Given the description of an element on the screen output the (x, y) to click on. 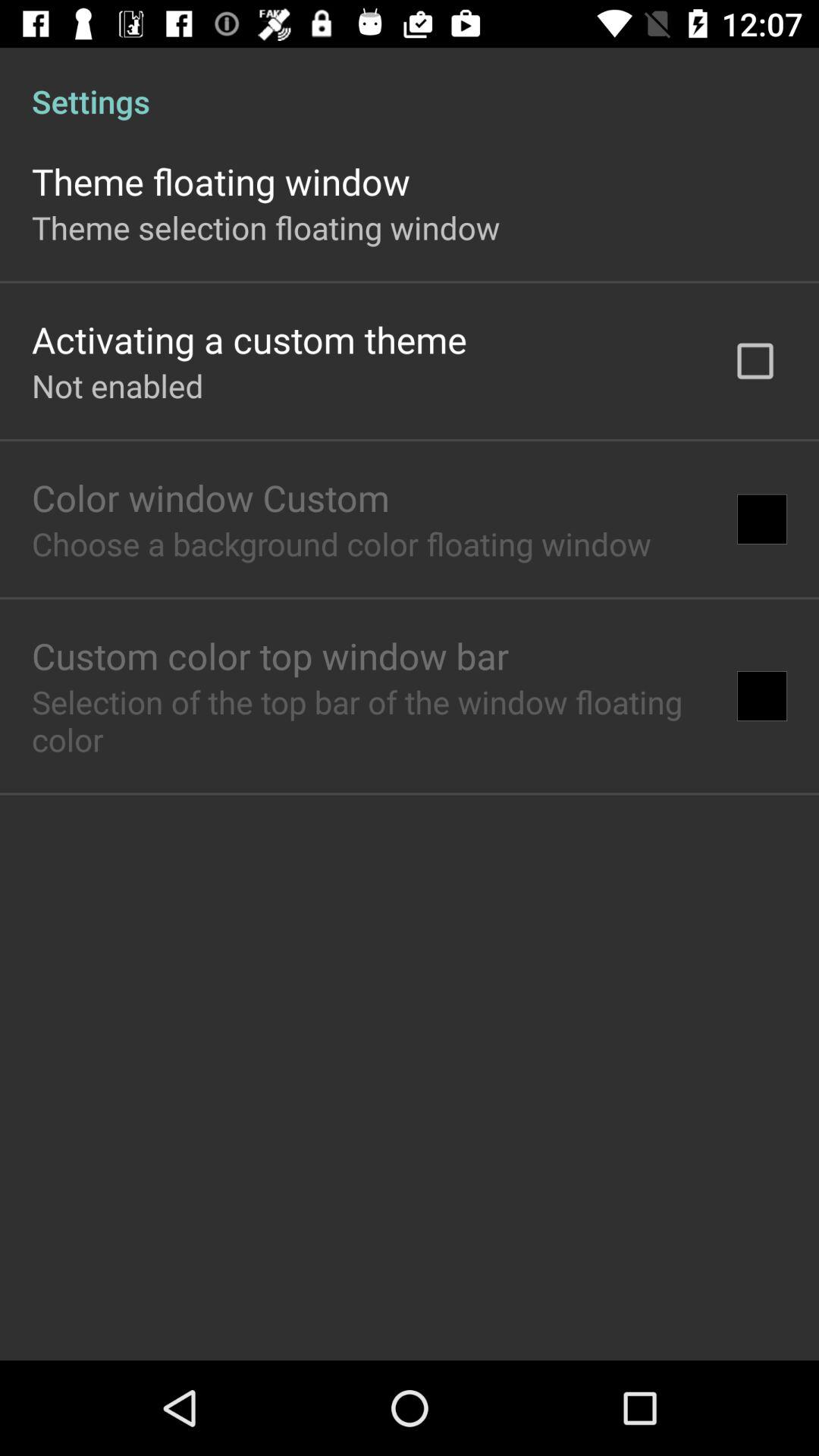
choose the selection of the icon (368, 720)
